Given the description of an element on the screen output the (x, y) to click on. 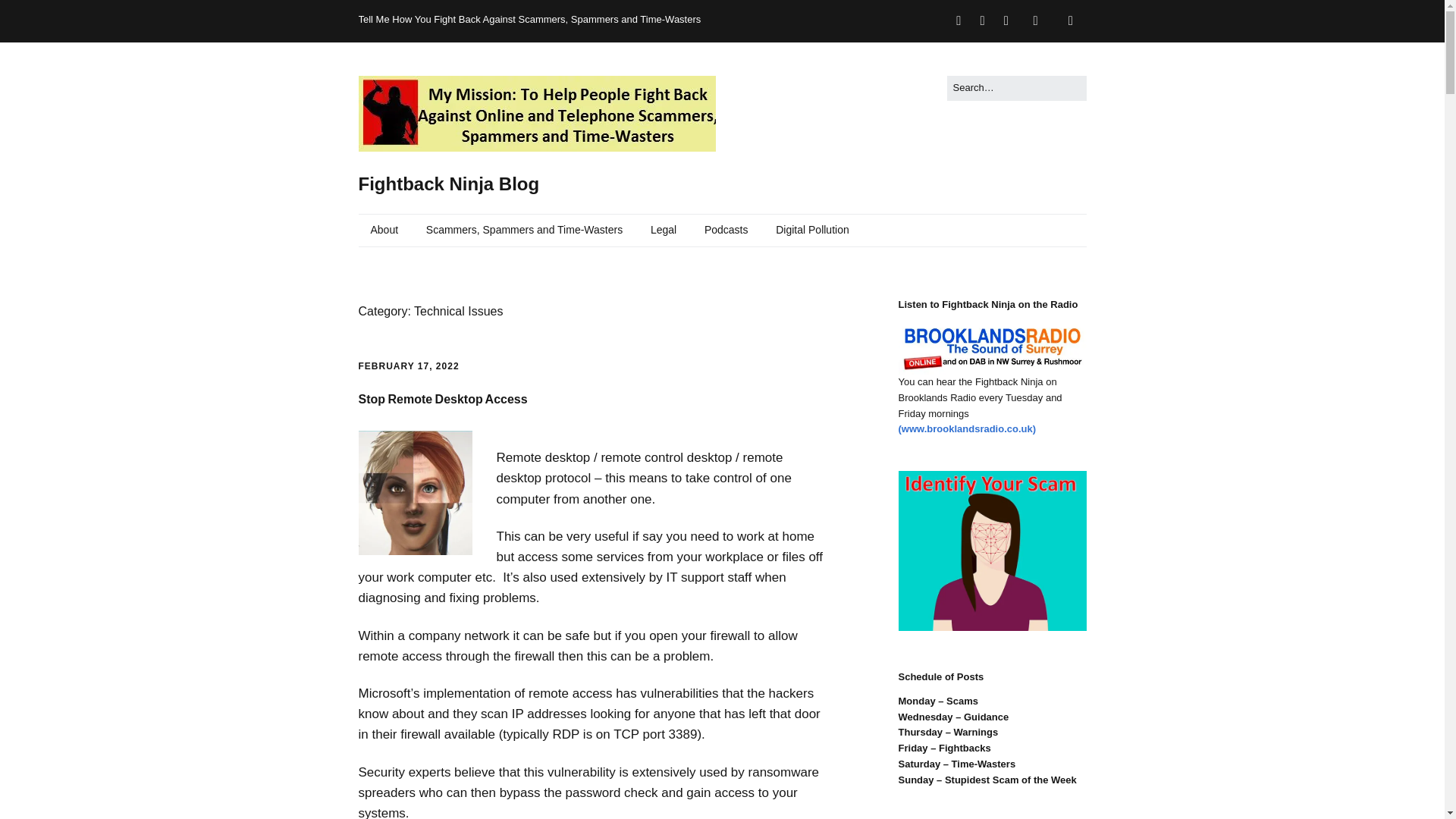
About (384, 230)
Fightback Ninja Blog (448, 183)
Stop Remote Desktop Access (442, 399)
Digital Pollution (811, 230)
FEBRUARY 17, 2022 (408, 366)
Search (29, 15)
Legal (663, 230)
Press Enter to submit your search (1016, 88)
Podcasts (726, 230)
Scammers, Spammers and Time-Wasters (523, 230)
